Given the description of an element on the screen output the (x, y) to click on. 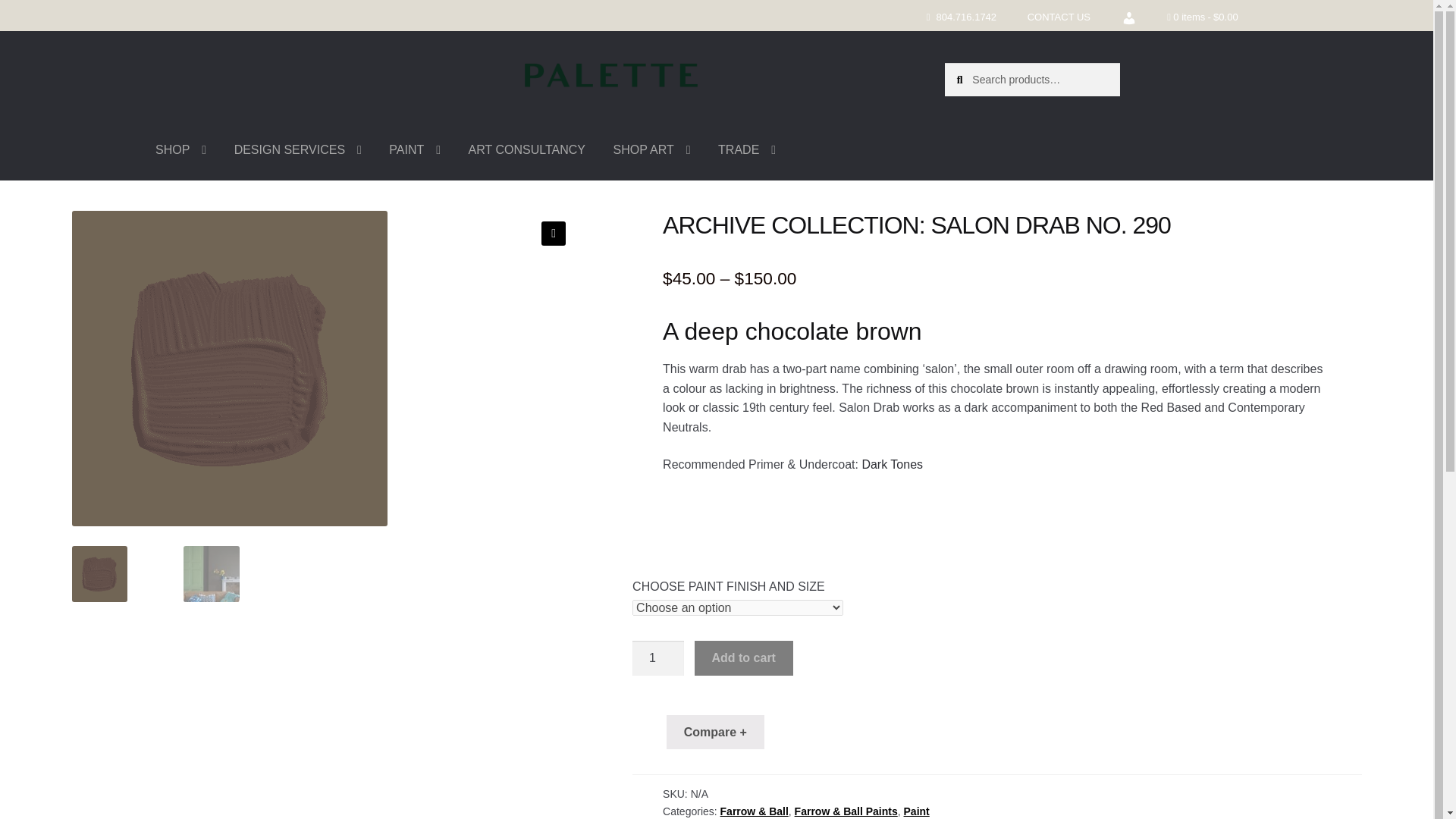
CONTACT US (1059, 18)
Start shopping (1201, 18)
804.716.1742 (966, 18)
1 (657, 657)
salon drab paint (229, 368)
SHOP (180, 149)
DESIGN SERVICES (298, 149)
